Given the description of an element on the screen output the (x, y) to click on. 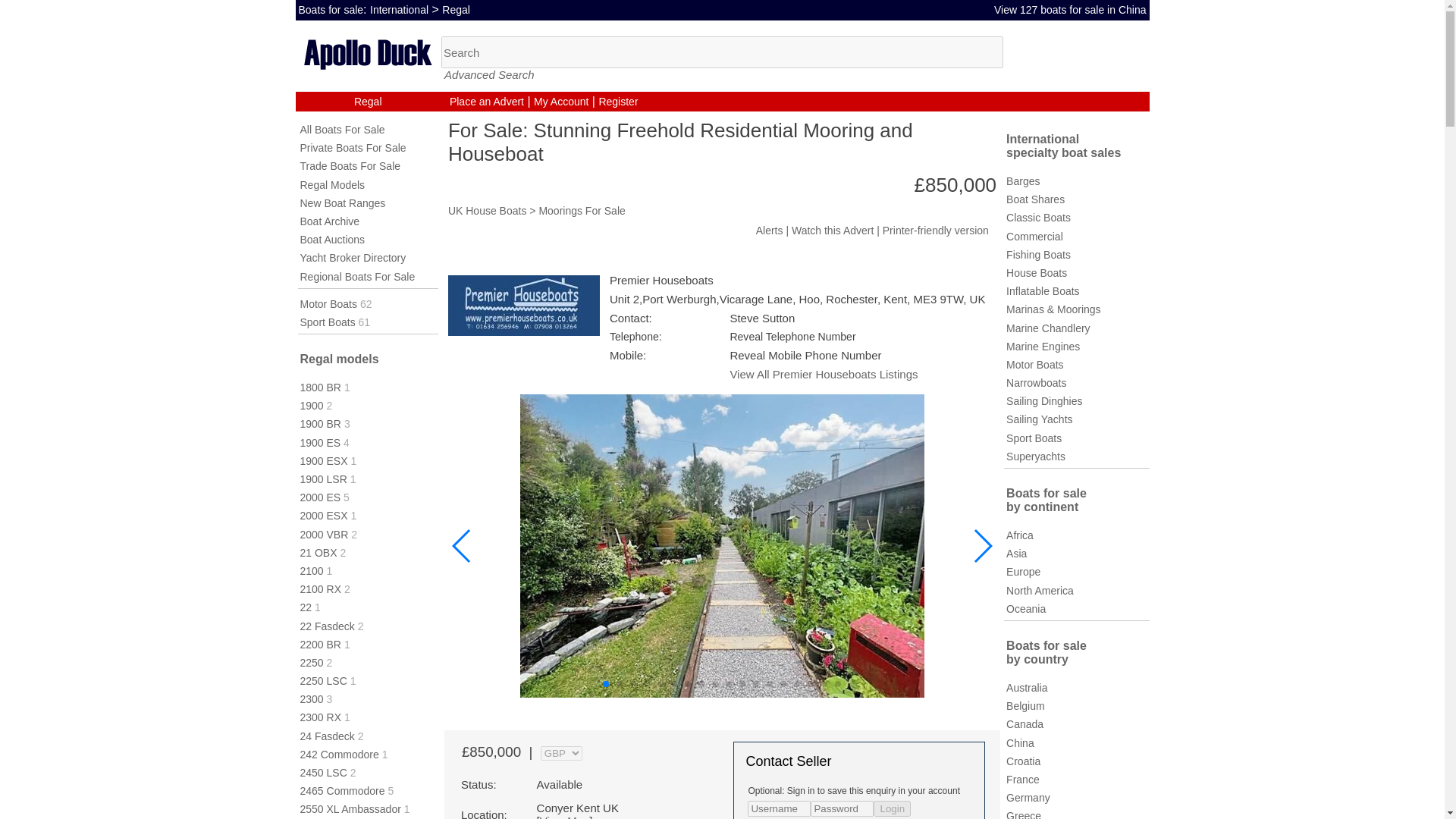
Trade Boats For Sale (350, 165)
Regal Models (332, 184)
All Boats For Sale (342, 129)
Yacht Broker Directory (352, 257)
Private Boats For Sale (352, 147)
Place an Advert (486, 101)
Regal (456, 9)
Login (892, 808)
22 Fasdeck (327, 625)
Boat Auctions (332, 239)
Register (617, 101)
2100 RX (319, 589)
1900 (311, 405)
International (398, 9)
My Account (561, 101)
